Given the description of an element on the screen output the (x, y) to click on. 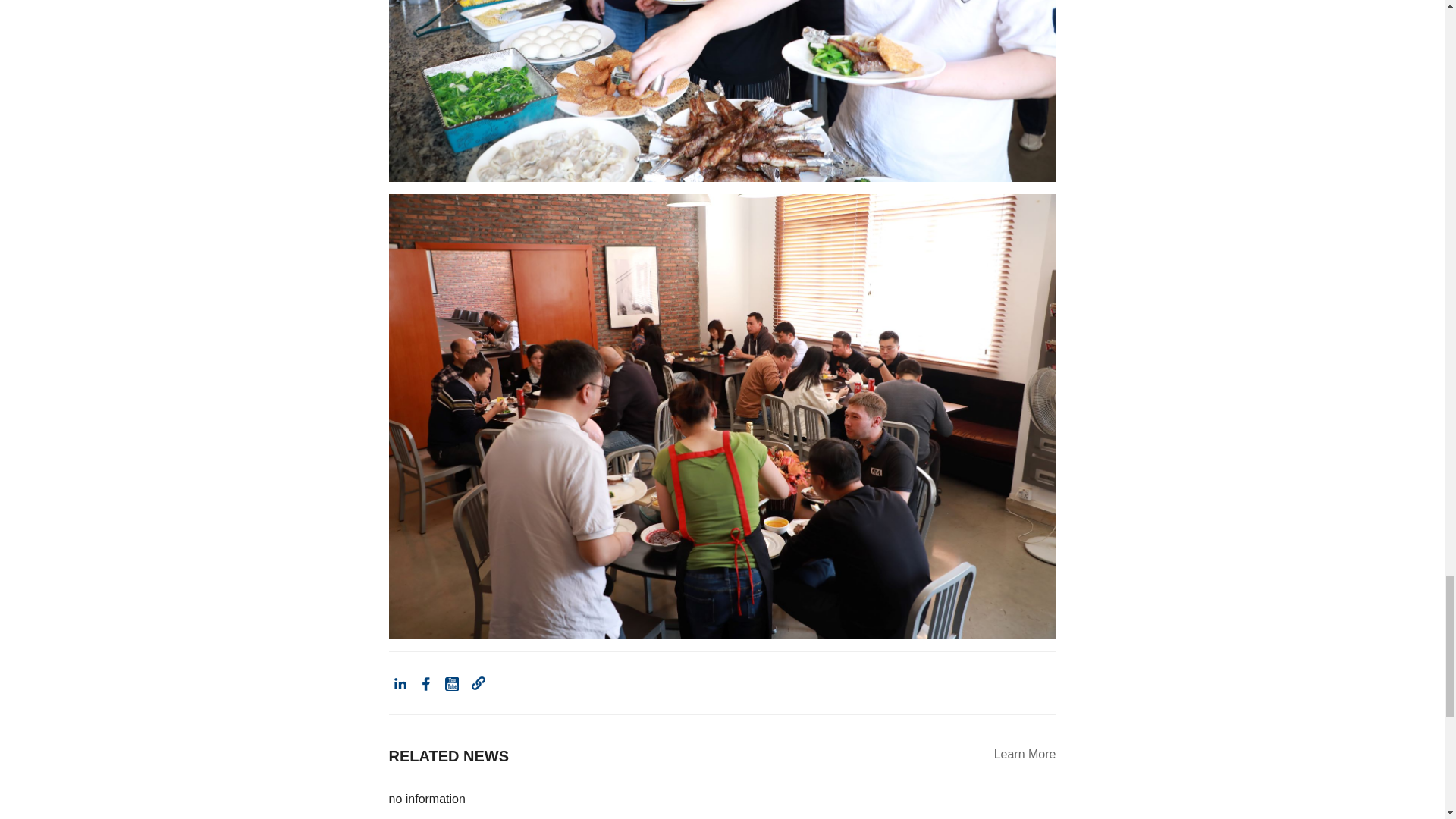
Share Facebook (426, 682)
Share Youtube (452, 682)
Share LinkedIn (399, 682)
